Given the description of an element on the screen output the (x, y) to click on. 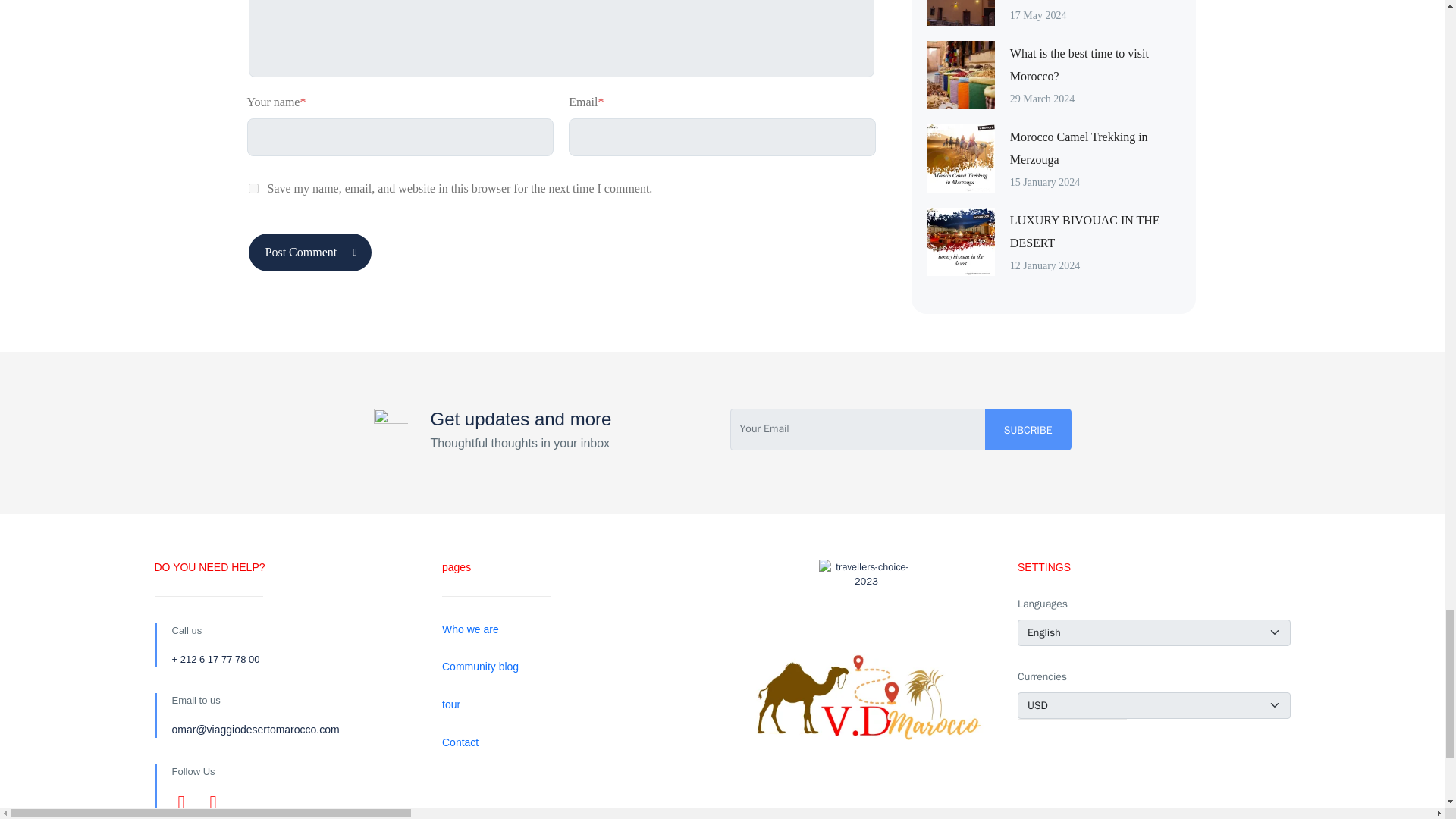
Post Comment (310, 252)
Subcribe (1028, 429)
yes (253, 188)
travellers-choice-2023 (866, 606)
